Given the description of an element on the screen output the (x, y) to click on. 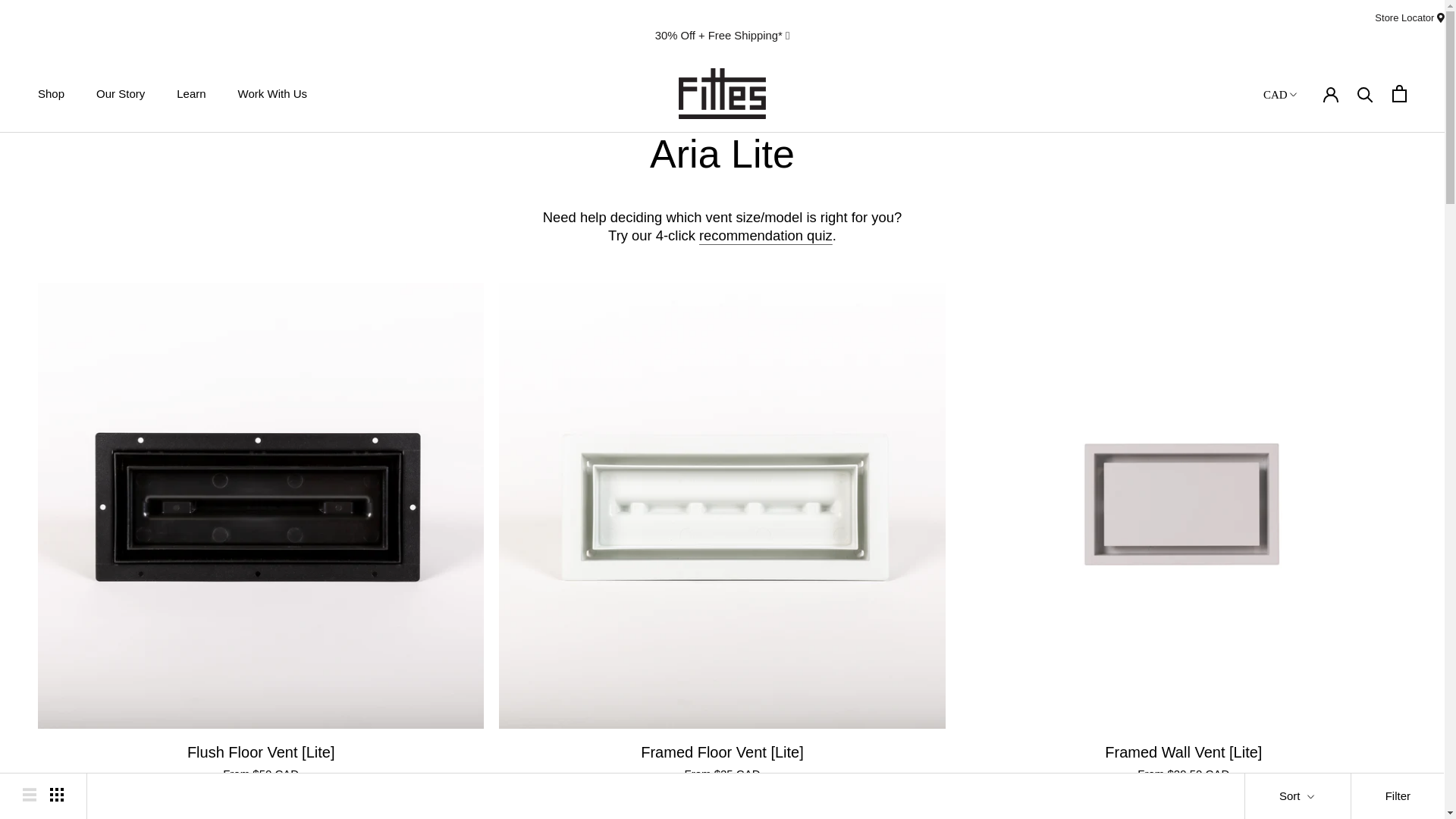
Our Story
Our Story Element type: text (120, 93)
Framed Floor Vent [Lite] Element type: text (721, 751)
Framed Wall Vent [Lite] Element type: text (1182, 751)
Shop
Shop Element type: text (50, 93)
recommendation quiz Element type: text (765, 235)
Learn
Learn Element type: text (190, 93)
Work With Us
Work With Us Element type: text (272, 93)
Flush Floor Vent [Lite] Element type: text (261, 751)
